Given the description of an element on the screen output the (x, y) to click on. 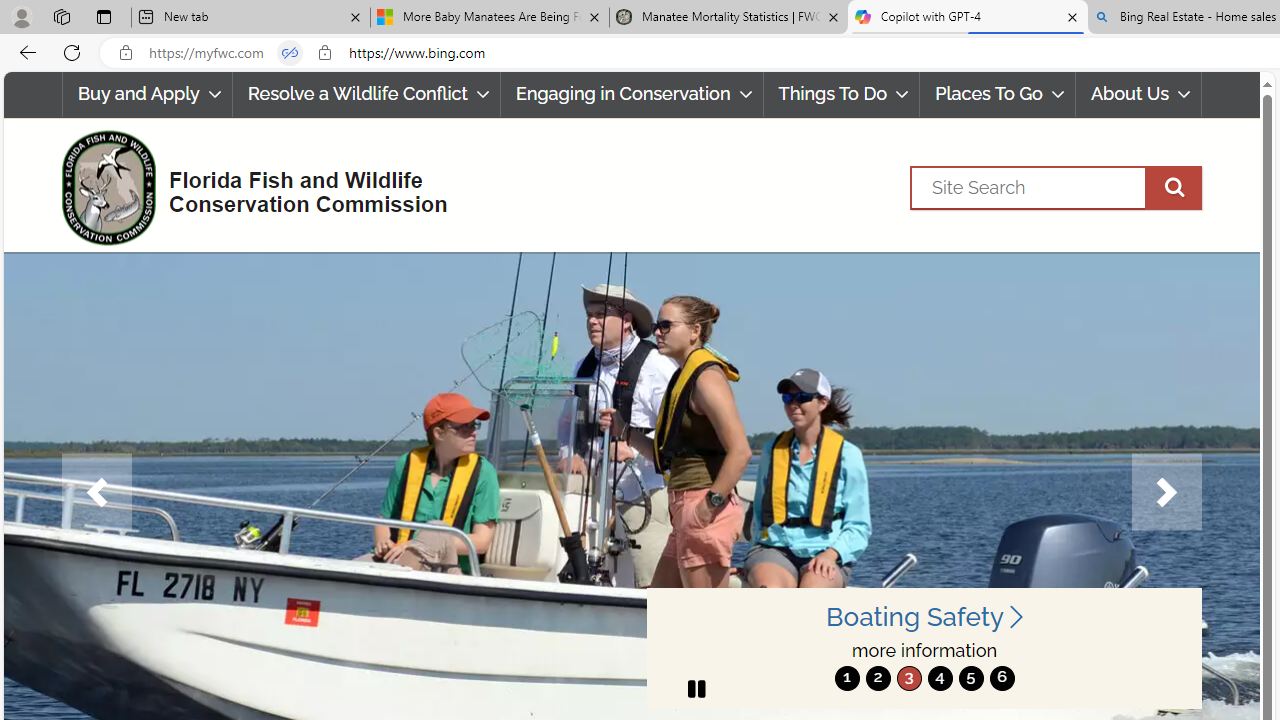
move to slide 6 (1002, 678)
Engaging in Conservation (631, 94)
move to slide 3 (908, 678)
About Us (1138, 94)
4 (939, 678)
Places To Go (997, 94)
Resolve a Wildlife Conflict (365, 94)
move to slide 5 (970, 678)
6 (1002, 678)
move to slide 4 (939, 678)
